Given the description of an element on the screen output the (x, y) to click on. 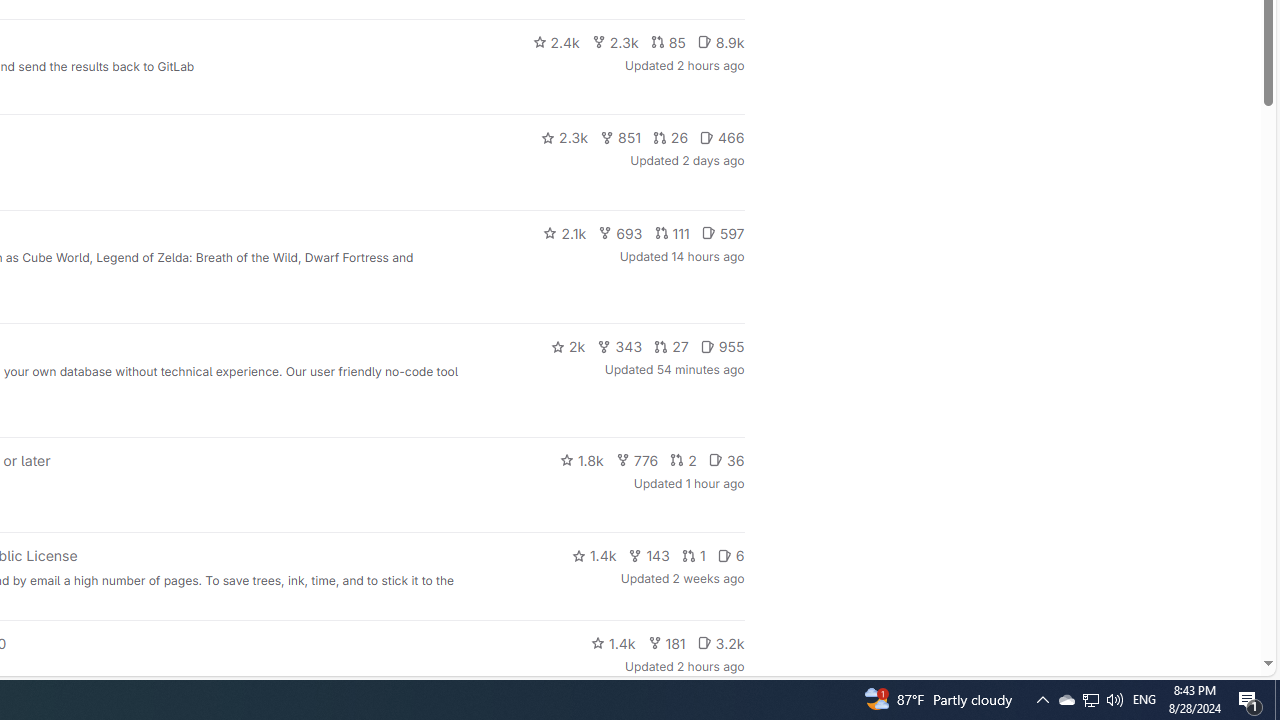
2k (568, 346)
27 (671, 346)
2 (683, 459)
343 (619, 346)
1.8k (581, 459)
143 (649, 556)
2.3k (564, 137)
693 (619, 232)
8.9k (720, 41)
597 (722, 232)
776 (636, 459)
85 (668, 41)
3.2k (720, 642)
851 (620, 137)
181 (666, 642)
